Given the description of an element on the screen output the (x, y) to click on. 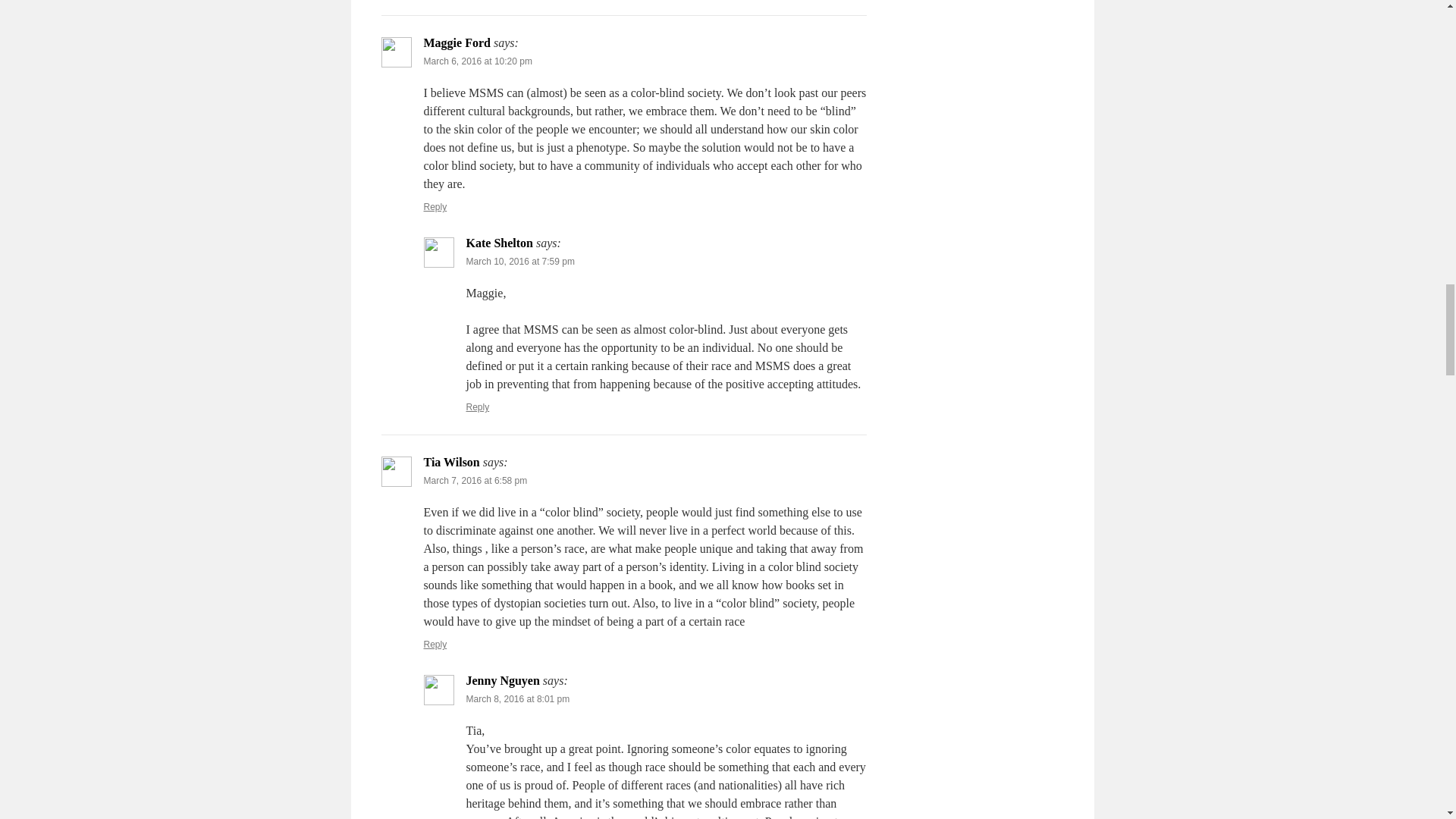
Reply (434, 206)
March 6, 2016 at 10:20 pm (477, 61)
March 7, 2016 at 6:58 pm (475, 480)
Reply (434, 644)
Reply (477, 407)
March 8, 2016 at 8:01 pm (517, 698)
March 10, 2016 at 7:59 pm (519, 261)
